Given the description of an element on the screen output the (x, y) to click on. 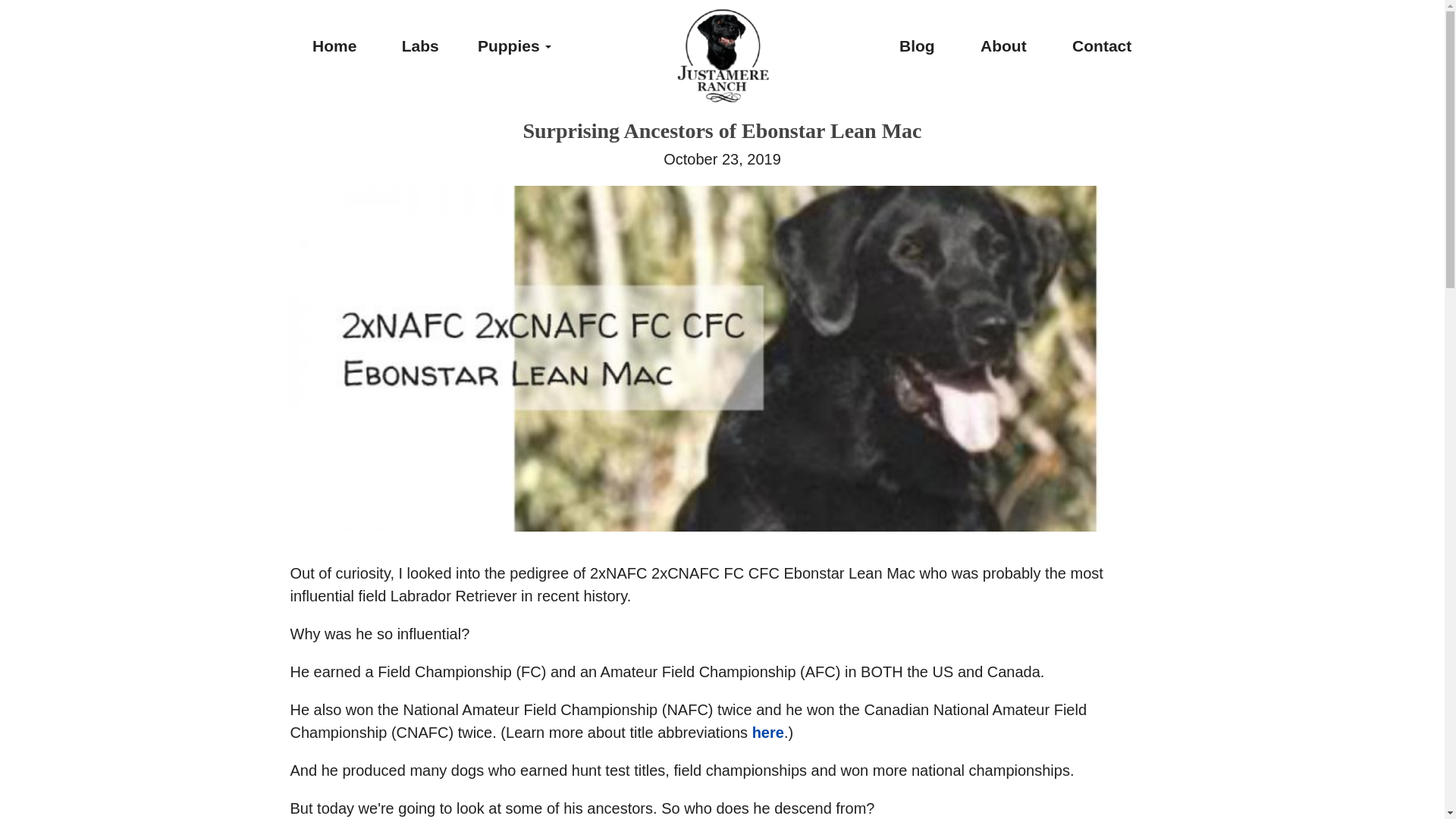
Puppies (514, 45)
Blog (917, 45)
Home (333, 45)
Contact (1101, 45)
here (768, 732)
Labs (419, 45)
Surprising Ancestors of Ebonstar Lean Mac (721, 130)
About (1003, 45)
